Given the description of an element on the screen output the (x, y) to click on. 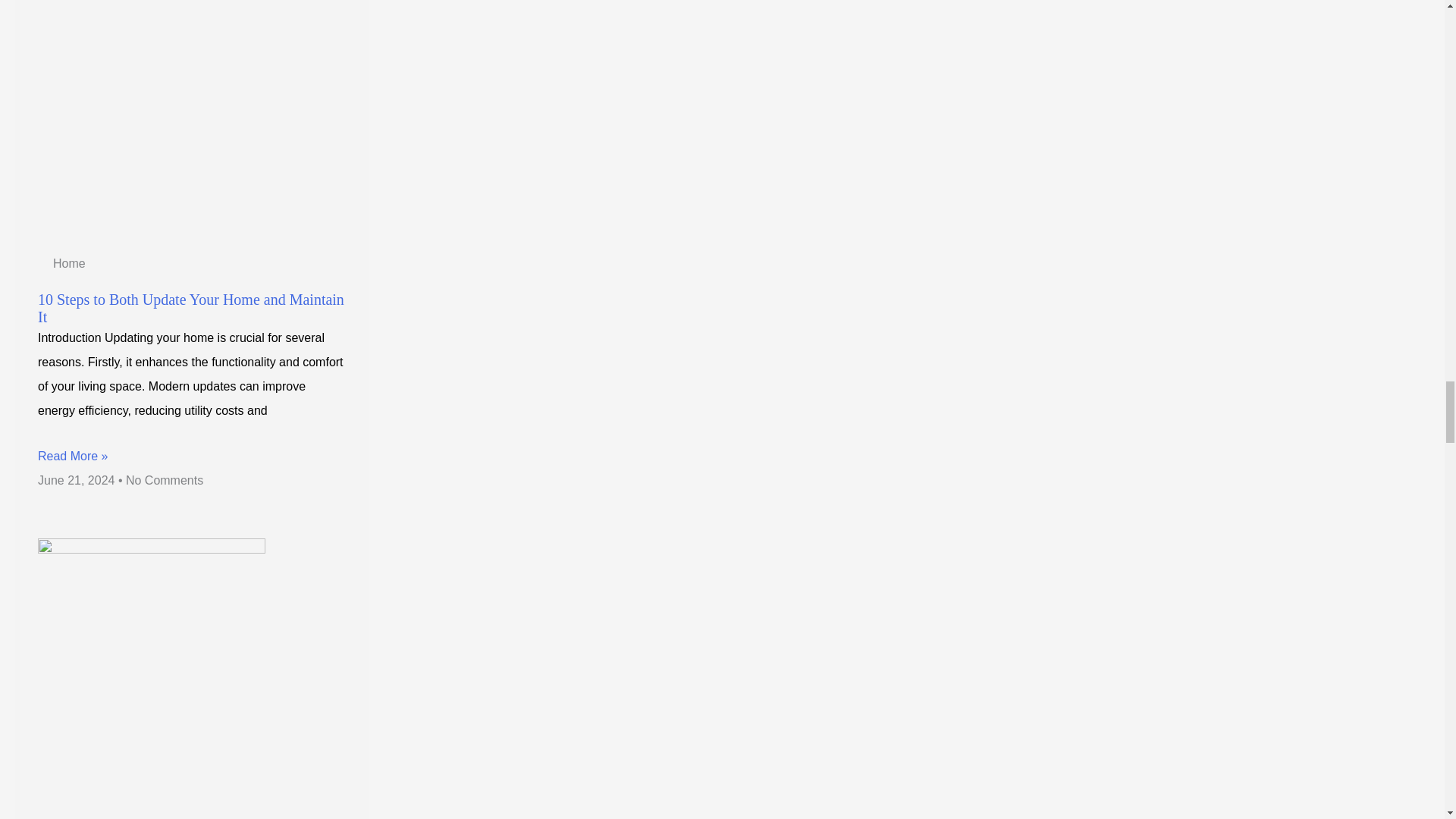
10 Steps to Both Update Your Home and Maintain It (190, 308)
